Given the description of an element on the screen output the (x, y) to click on. 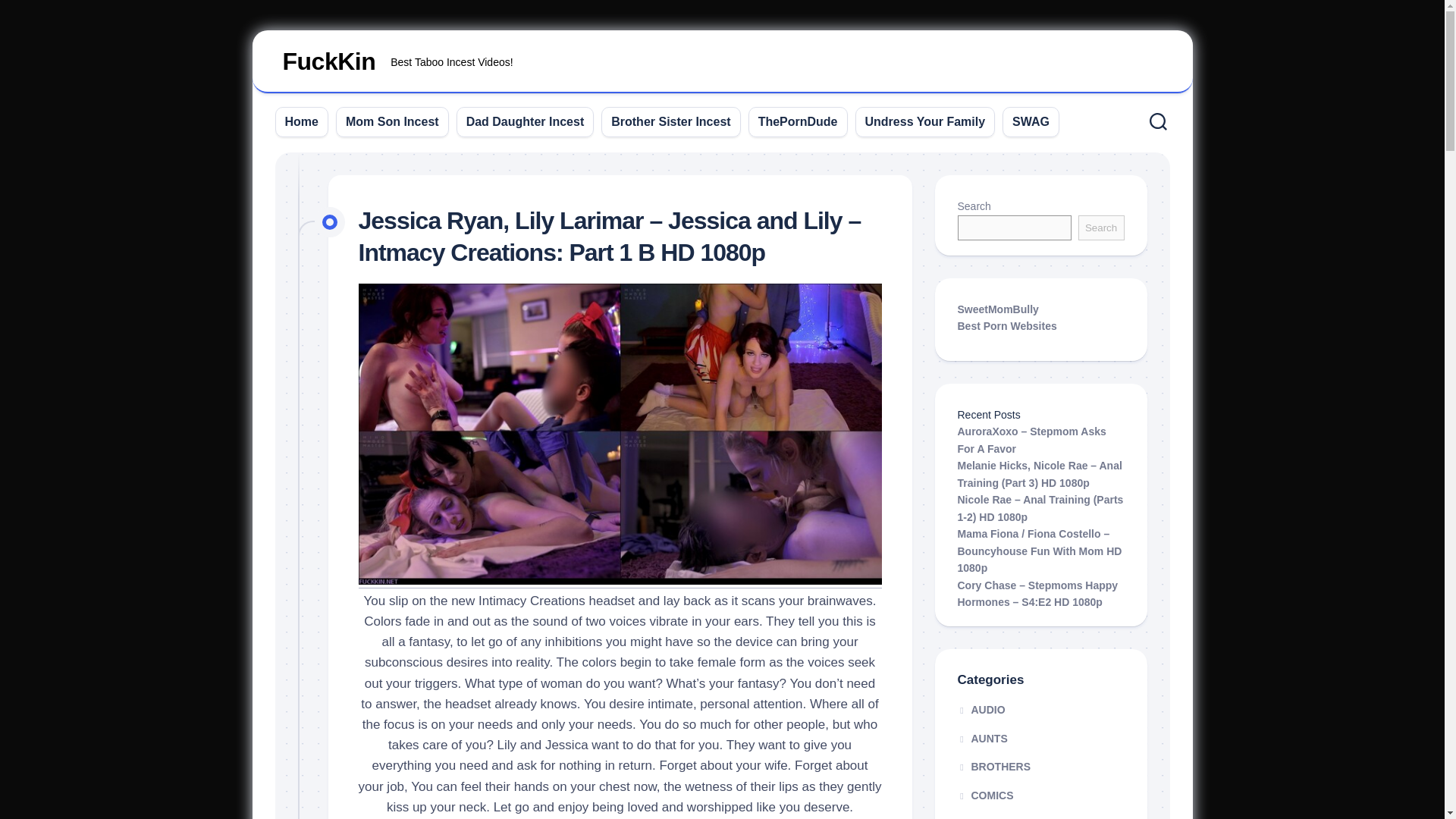
COUSINS (987, 818)
Undress Your Family (924, 121)
Adult Website Gallery and Adult Job Board - FleshlyX (1006, 326)
Skip to content (721, 62)
BROTHERS (1006, 326)
Dad Daughter Incest (993, 766)
SweetMomBully (525, 121)
Search (997, 309)
COMICS (1101, 227)
Mom Son Incest (984, 794)
Home (392, 121)
Mom Bully Son Porn (301, 121)
FuckKin (997, 309)
